Given the description of an element on the screen output the (x, y) to click on. 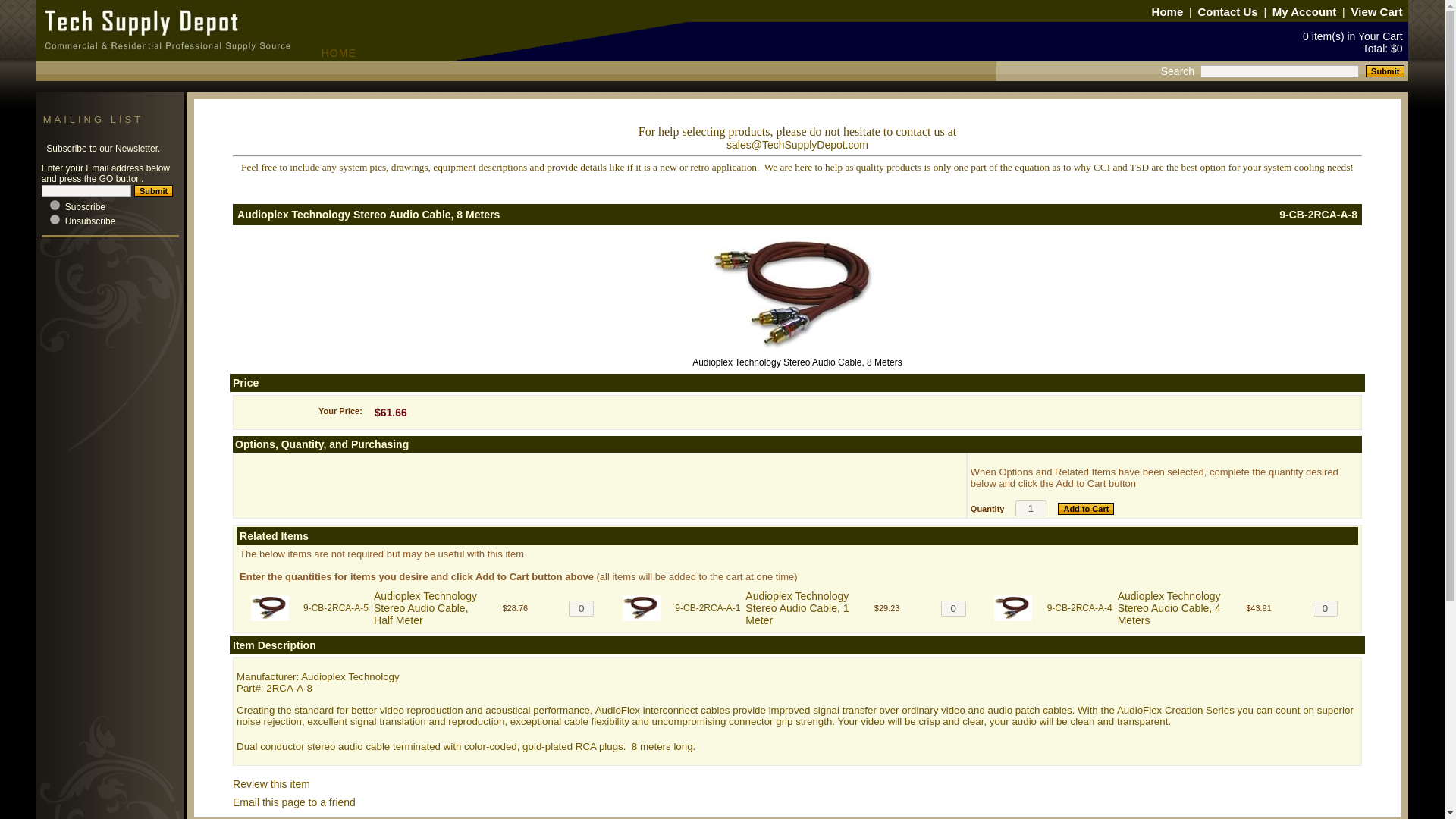
Audioplex Technology Stereo Audio Cable, 1 Meter (796, 607)
Email this page to a friend (293, 802)
0 (54, 219)
Submit (1385, 70)
1 (54, 204)
View Cart (1377, 11)
Audioplex Technology Stereo Audio Cable, Half Meter (425, 607)
0 (1325, 608)
Submit (153, 191)
Submit (1385, 70)
1 (1030, 508)
HOME (196, 52)
Contact Us (1226, 11)
0 (581, 608)
Review this item (271, 784)
